Given the description of an element on the screen output the (x, y) to click on. 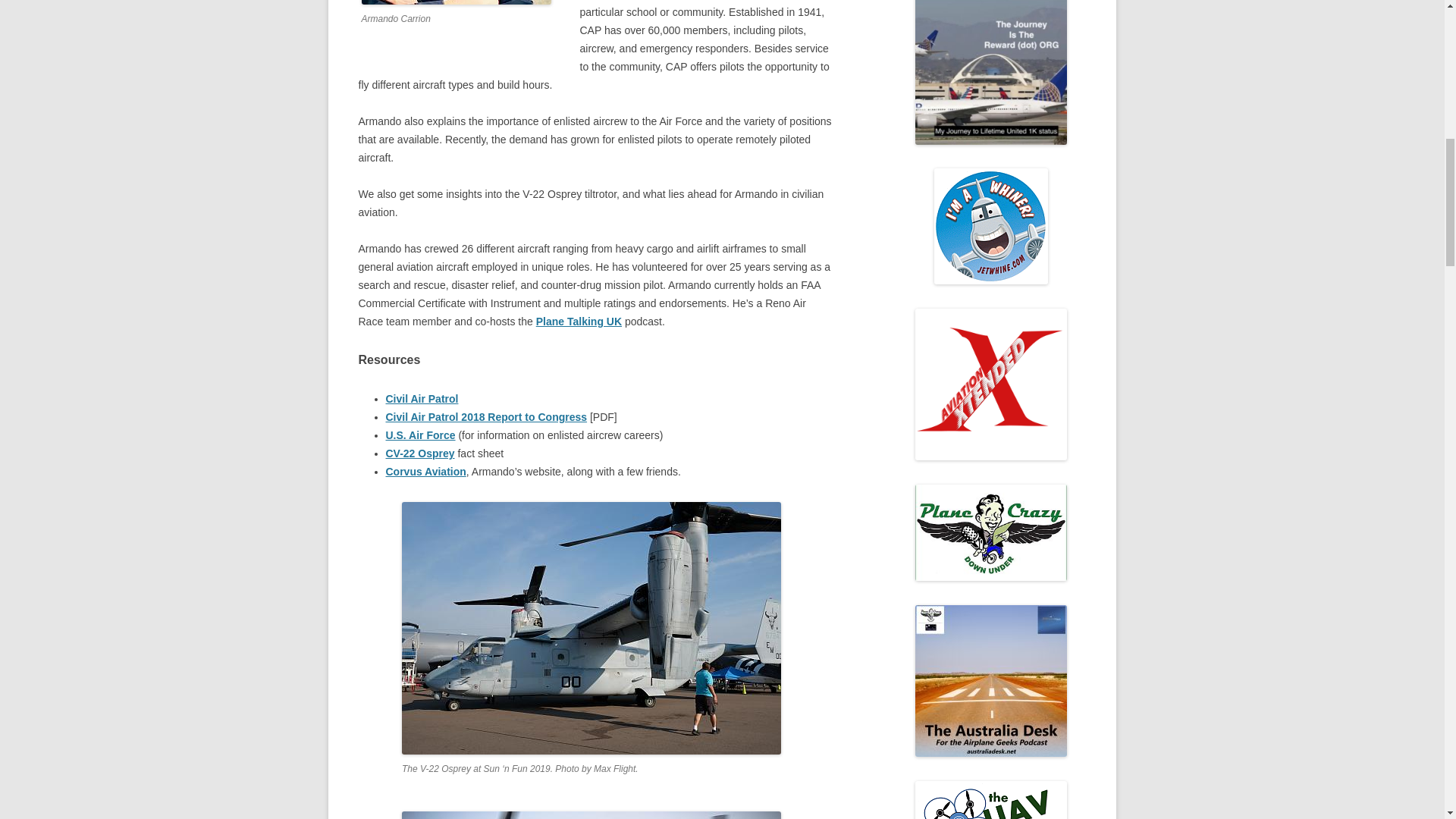
Civil Air Patrol 2018 Report to Congress (485, 417)
U.S. Air Force (419, 435)
CV-22 Osprey (419, 453)
Corvus Aviation (425, 471)
Civil Air Patrol (421, 398)
Plane Talking UK (578, 321)
